Given the description of an element on the screen output the (x, y) to click on. 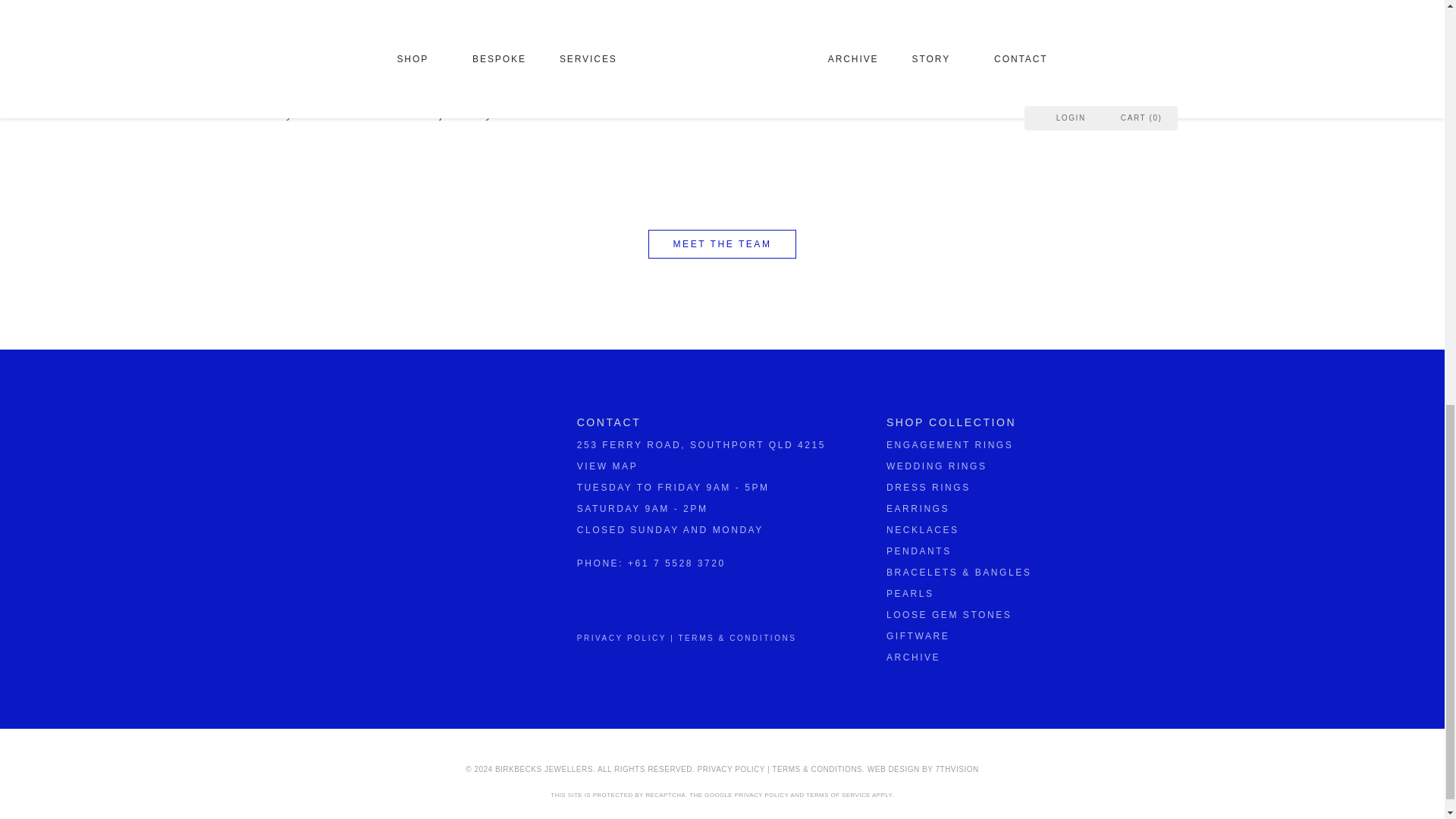
VIEW MAP (607, 466)
DRESS RINGS (928, 487)
ENGAGEMENT RINGS (949, 444)
WEDDING RINGS (936, 466)
NECKLACES (922, 529)
EARRINGS (917, 508)
MEET THE TEAM (721, 244)
PENDANTS (919, 551)
